Given the description of an element on the screen output the (x, y) to click on. 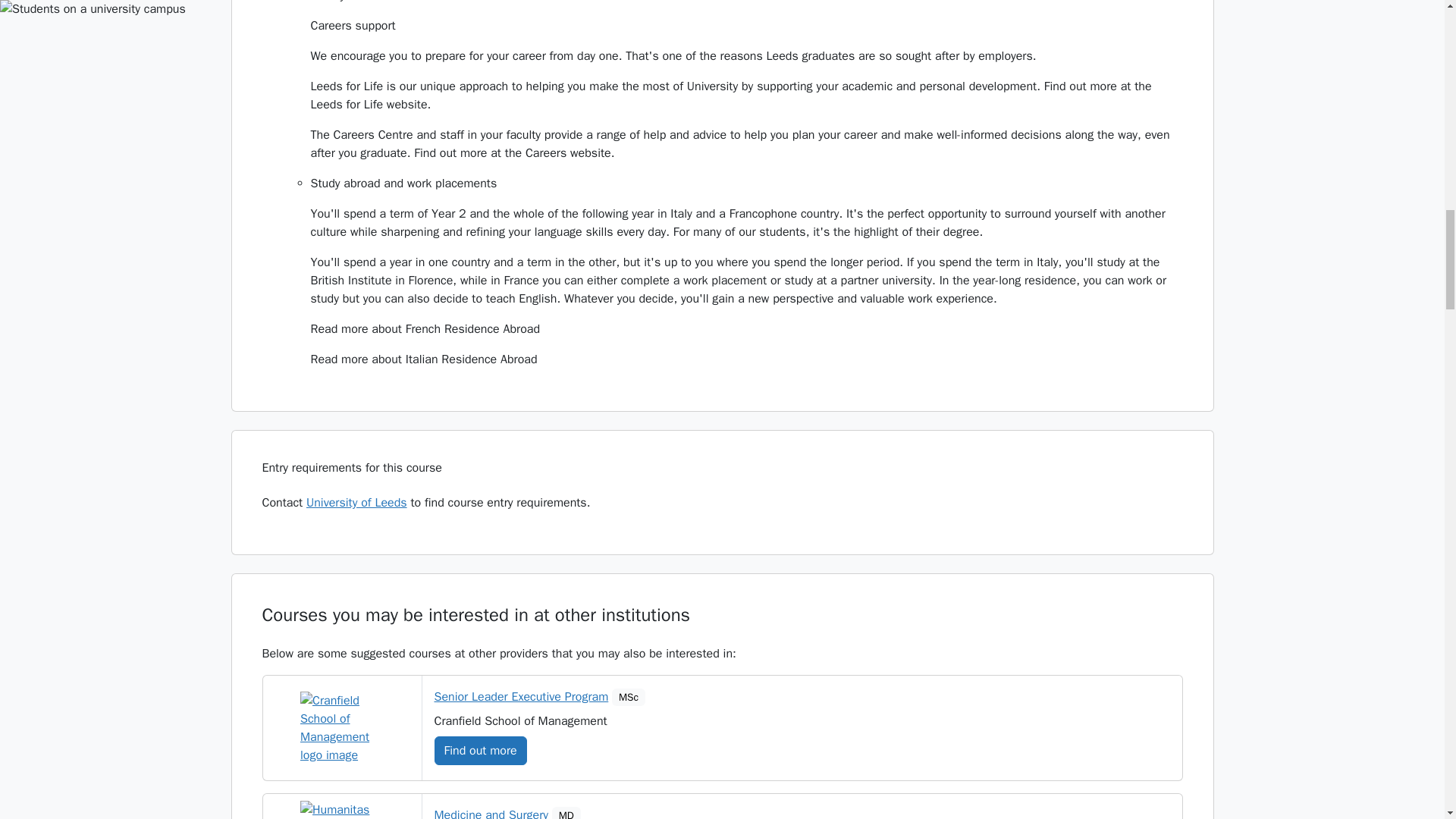
Cranfield School of Management (341, 727)
University of Leeds (356, 502)
Humanitas University, Medicine and Surgery (341, 809)
